Given the description of an element on the screen output the (x, y) to click on. 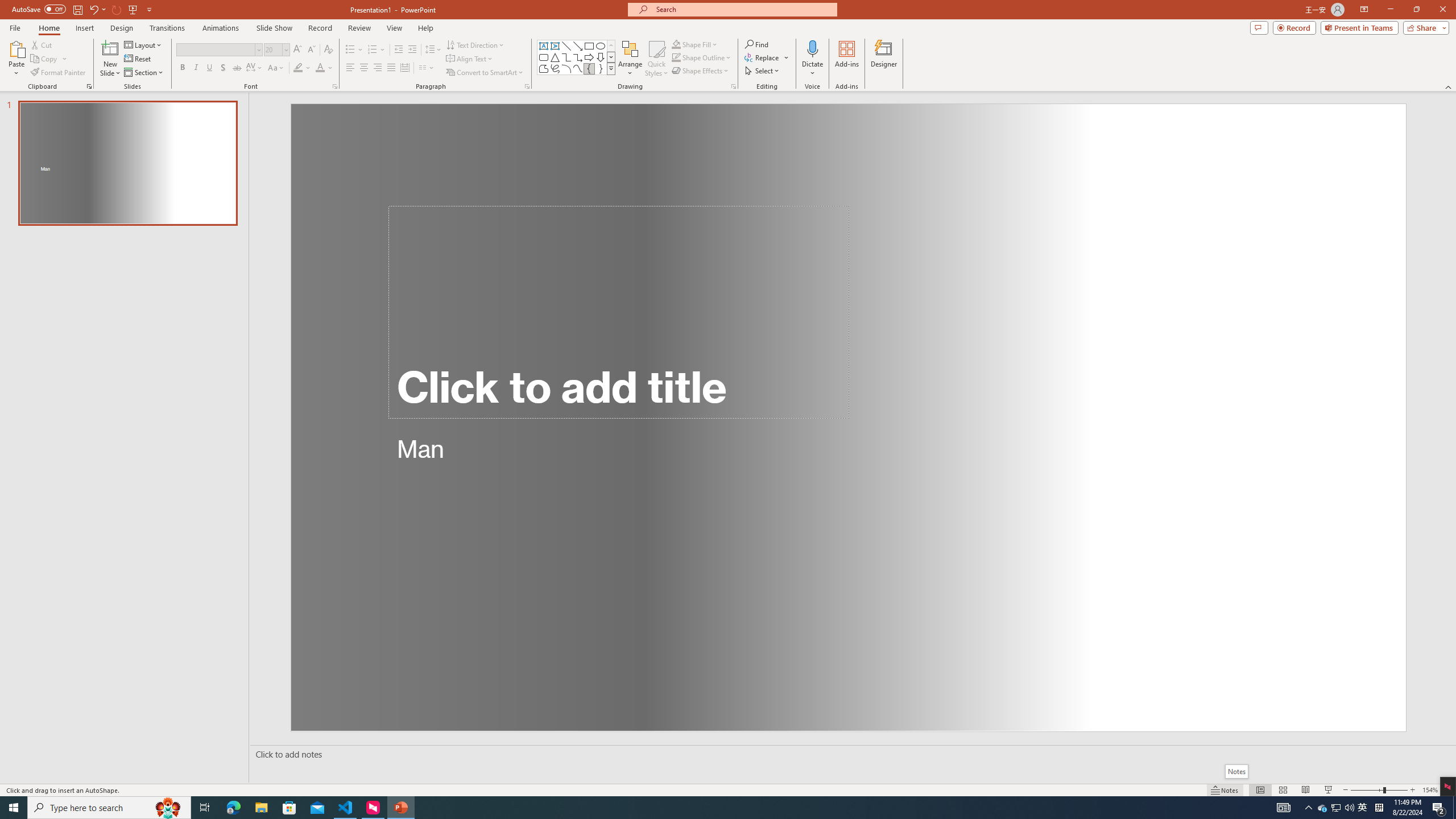
Notes (1235, 771)
Underline (209, 67)
Arrange (630, 58)
Connector: Elbow (566, 57)
Zoom 154% (1430, 790)
Rectangle: Rounded Corners (543, 57)
Isosceles Triangle (554, 57)
Row Down (611, 56)
